Given the description of an element on the screen output the (x, y) to click on. 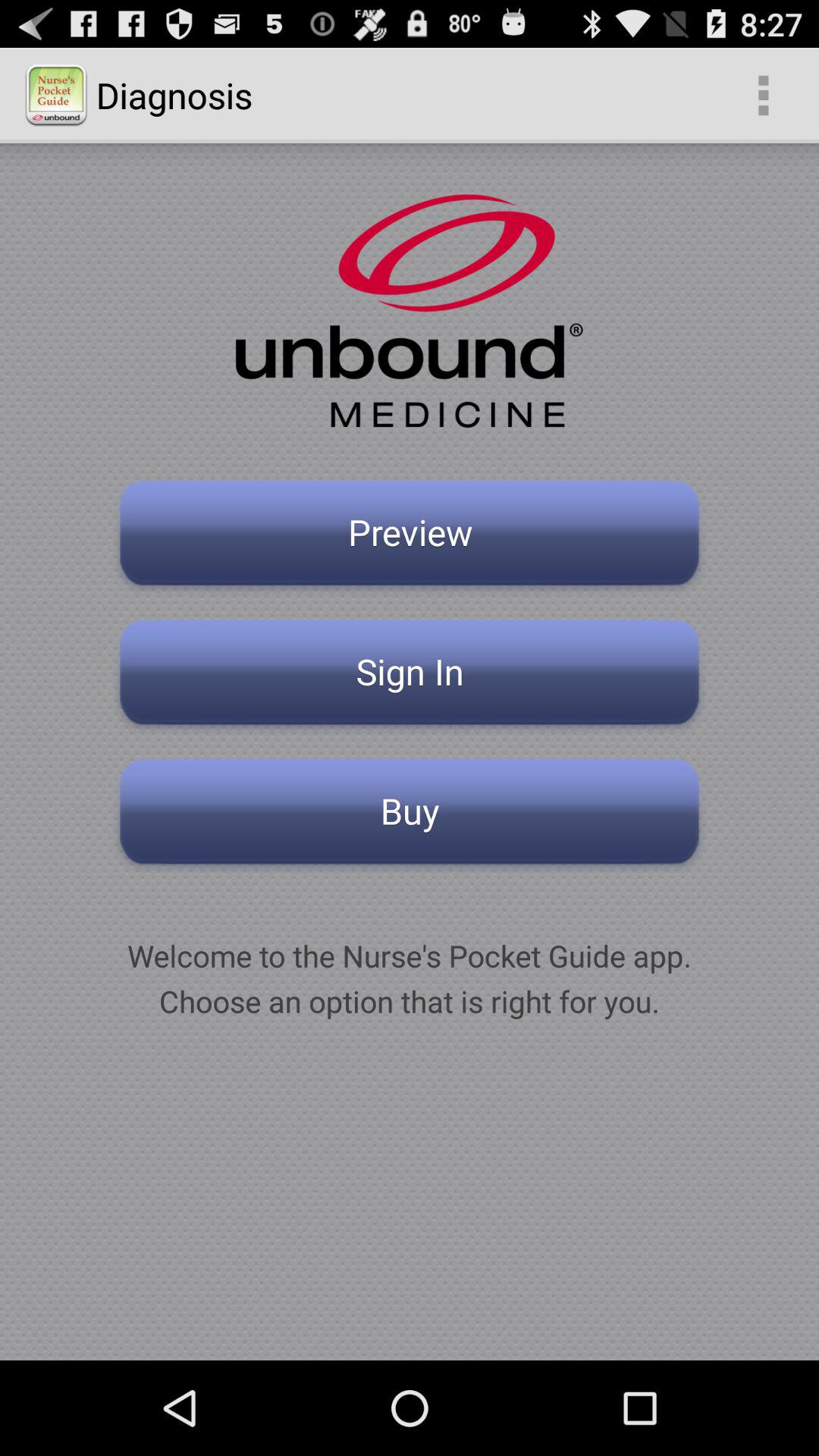
turn on icon at the top right corner (763, 95)
